Given the description of an element on the screen output the (x, y) to click on. 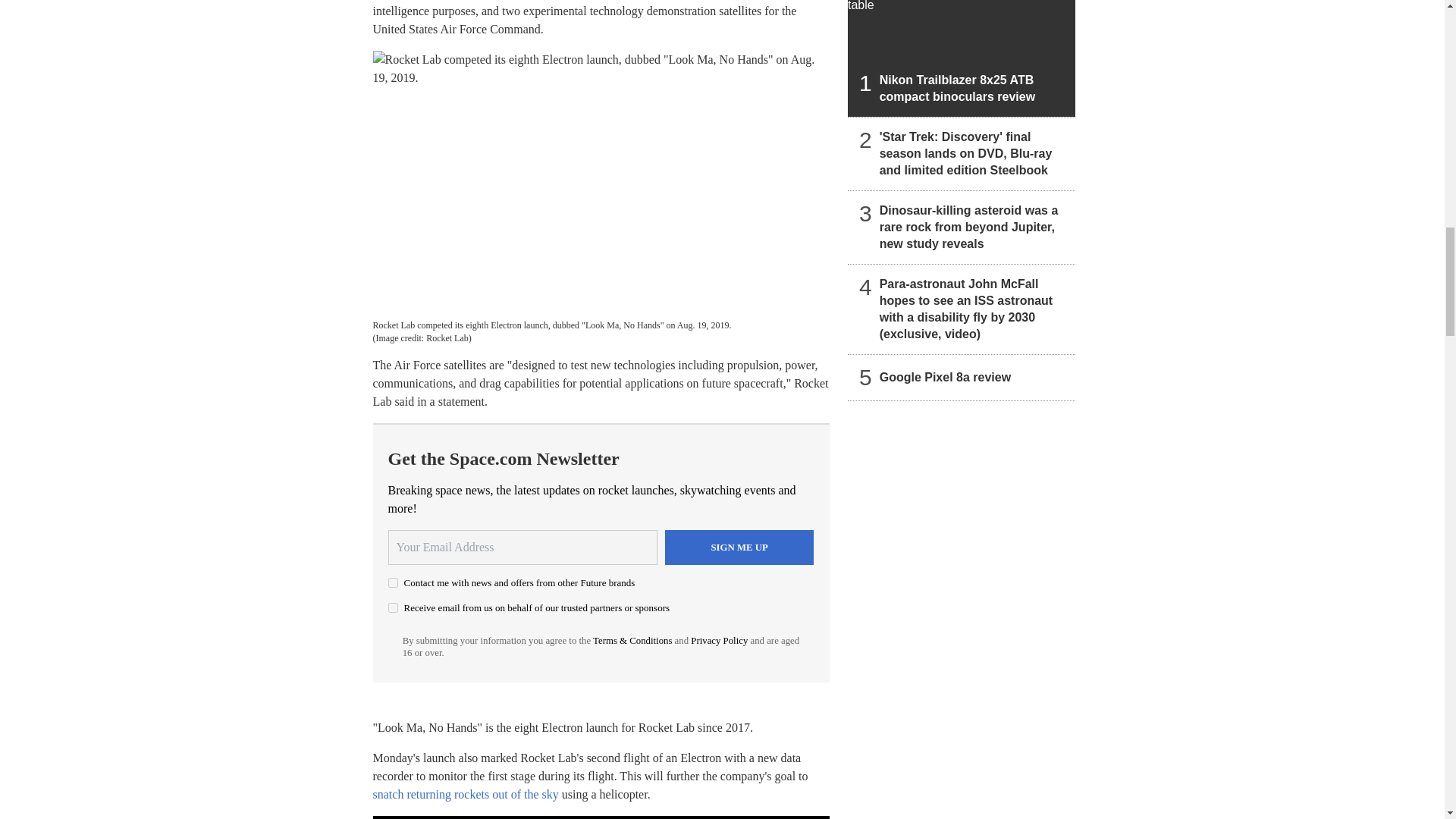
Sign me up (739, 547)
Nikon Trailblazer 8x25 ATB compact binoculars review (961, 58)
on (392, 607)
on (392, 583)
